Given the description of an element on the screen output the (x, y) to click on. 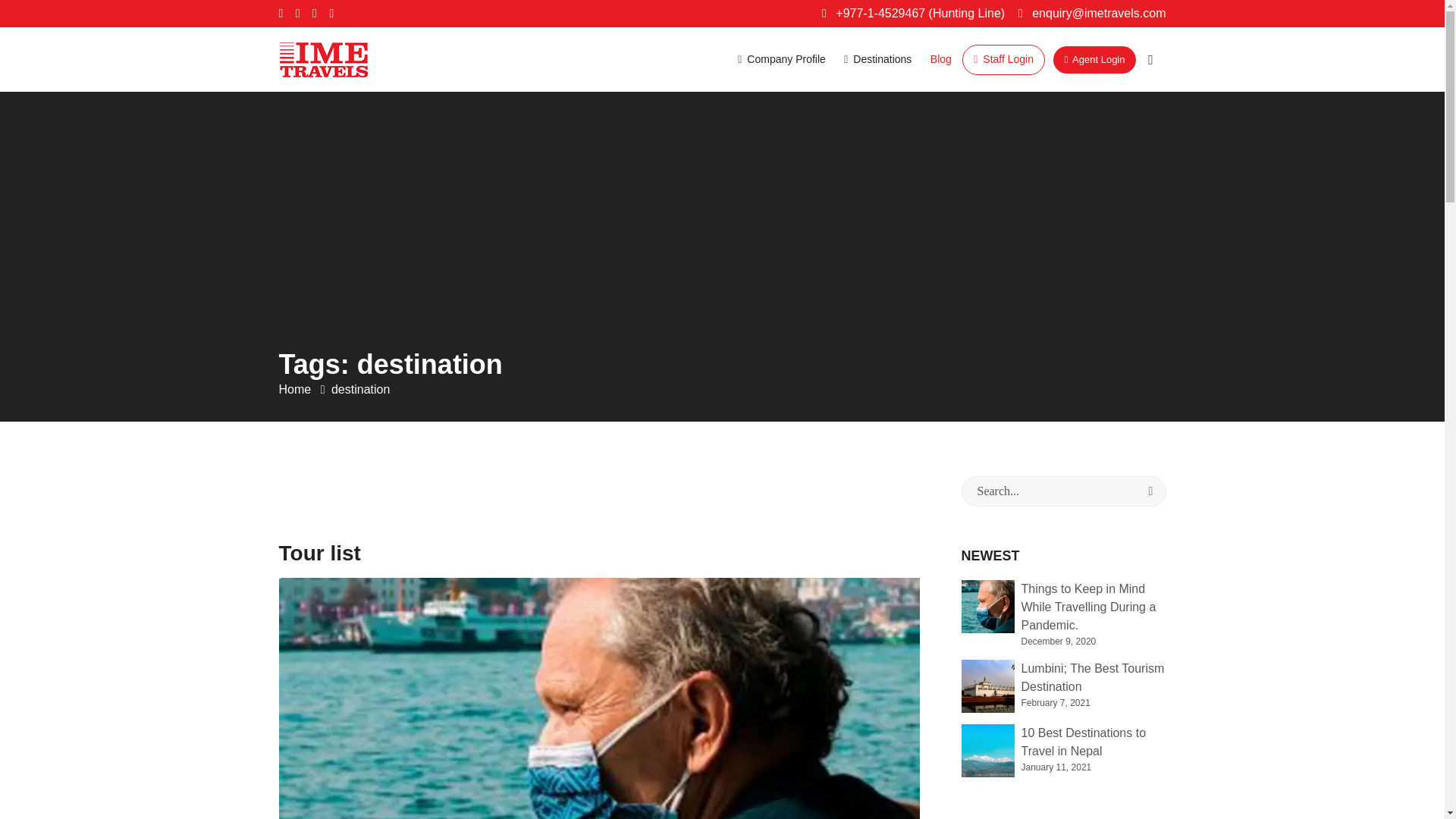
Home (296, 389)
Destinations (876, 59)
Staff Login (1003, 59)
destination (360, 389)
Company Profile (781, 59)
Agent Login (1093, 58)
